Given the description of an element on the screen output the (x, y) to click on. 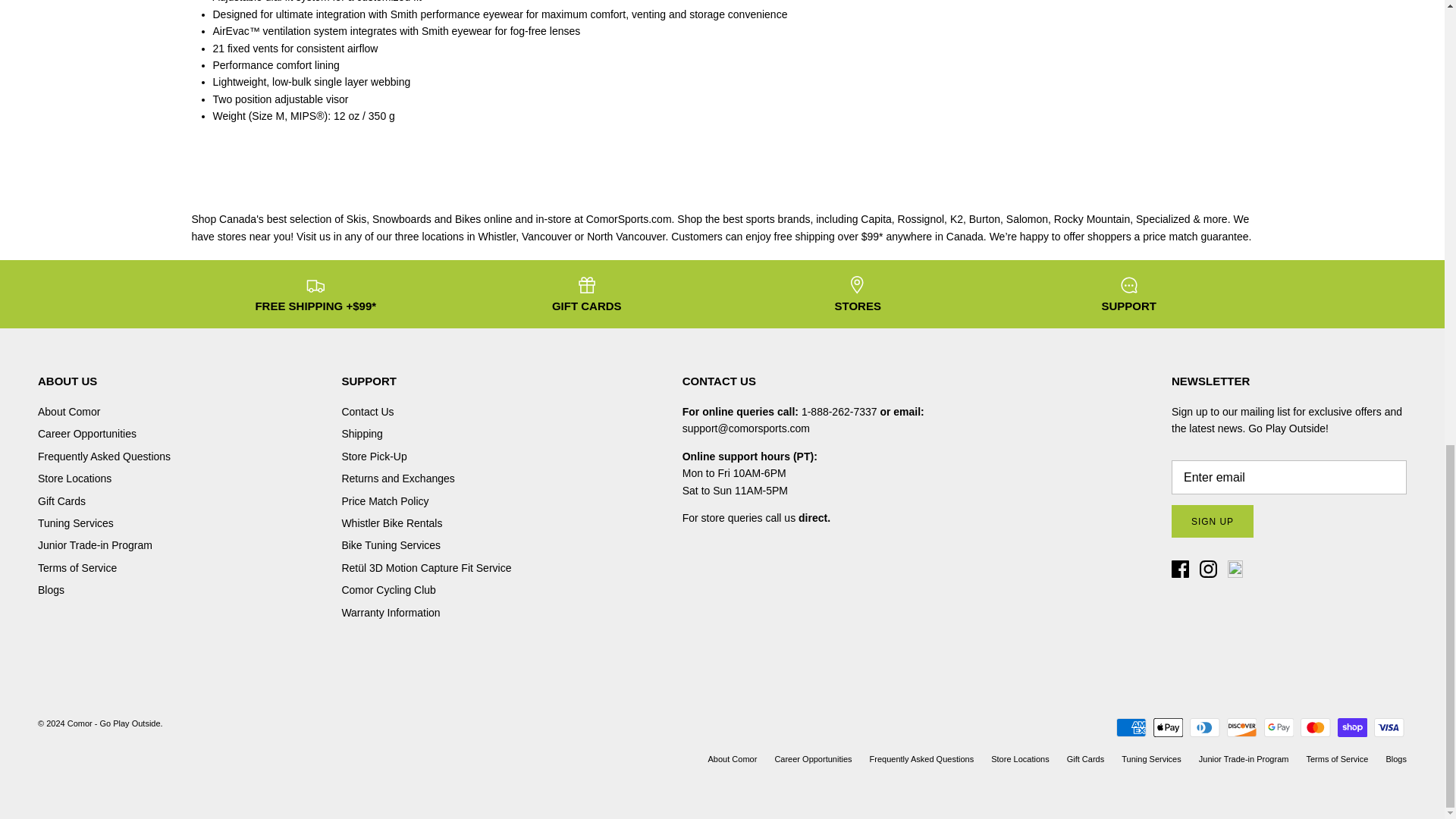
Discover (1241, 727)
tel:1-888-262-7337 (839, 411)
Instagram (1208, 569)
Locations (813, 517)
Diners Club (1204, 727)
Facebook (1180, 569)
Apple Pay (1168, 727)
American Express (1130, 727)
Google Pay (1277, 727)
